Given the description of an element on the screen output the (x, y) to click on. 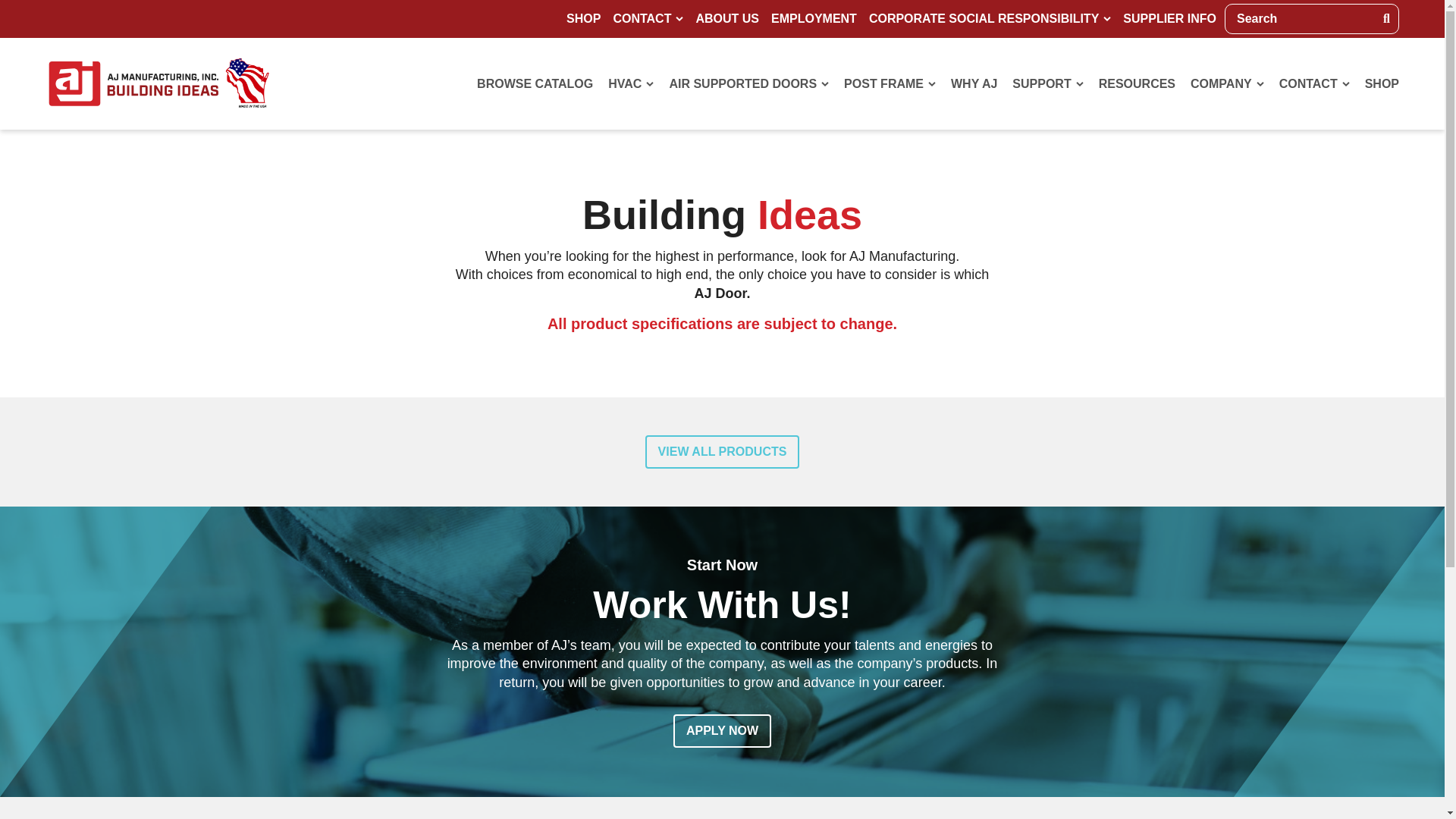
EMPLOYMENT (813, 18)
AJ Manufacturing (159, 83)
SHOP (583, 18)
CONTACT (647, 18)
BROWSE CATALOG (534, 83)
RESOURCES (1136, 83)
SUPPLIER INFO (1169, 18)
CORPORATE SOCIAL RESPONSIBILITY (989, 18)
COMPANY (1227, 83)
HVAC (630, 83)
POST FRAME (890, 83)
SUPPORT (1047, 83)
WHY AJ (973, 83)
ABOUT US (726, 18)
AIR SUPPORTED DOORS (748, 83)
